Given the description of an element on the screen output the (x, y) to click on. 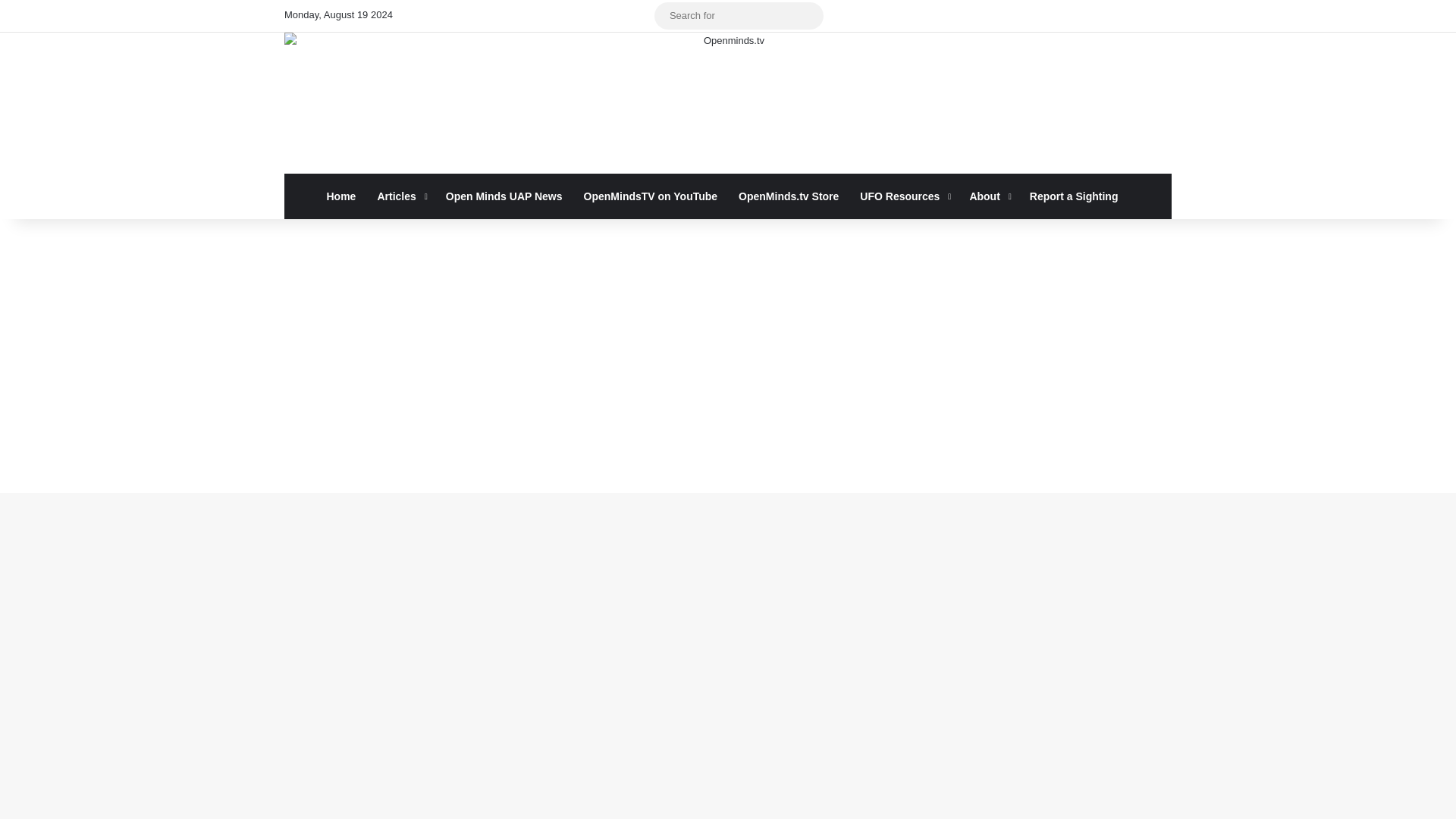
OpenMindsTV on YouTube (651, 196)
About (987, 196)
Open Minds UAP News (504, 196)
OpenMinds.tv Store (788, 196)
Search for (738, 15)
Openminds.tv (727, 102)
UFO Resources (903, 196)
Articles (399, 196)
Search for (808, 15)
Home (340, 196)
